Given the description of an element on the screen output the (x, y) to click on. 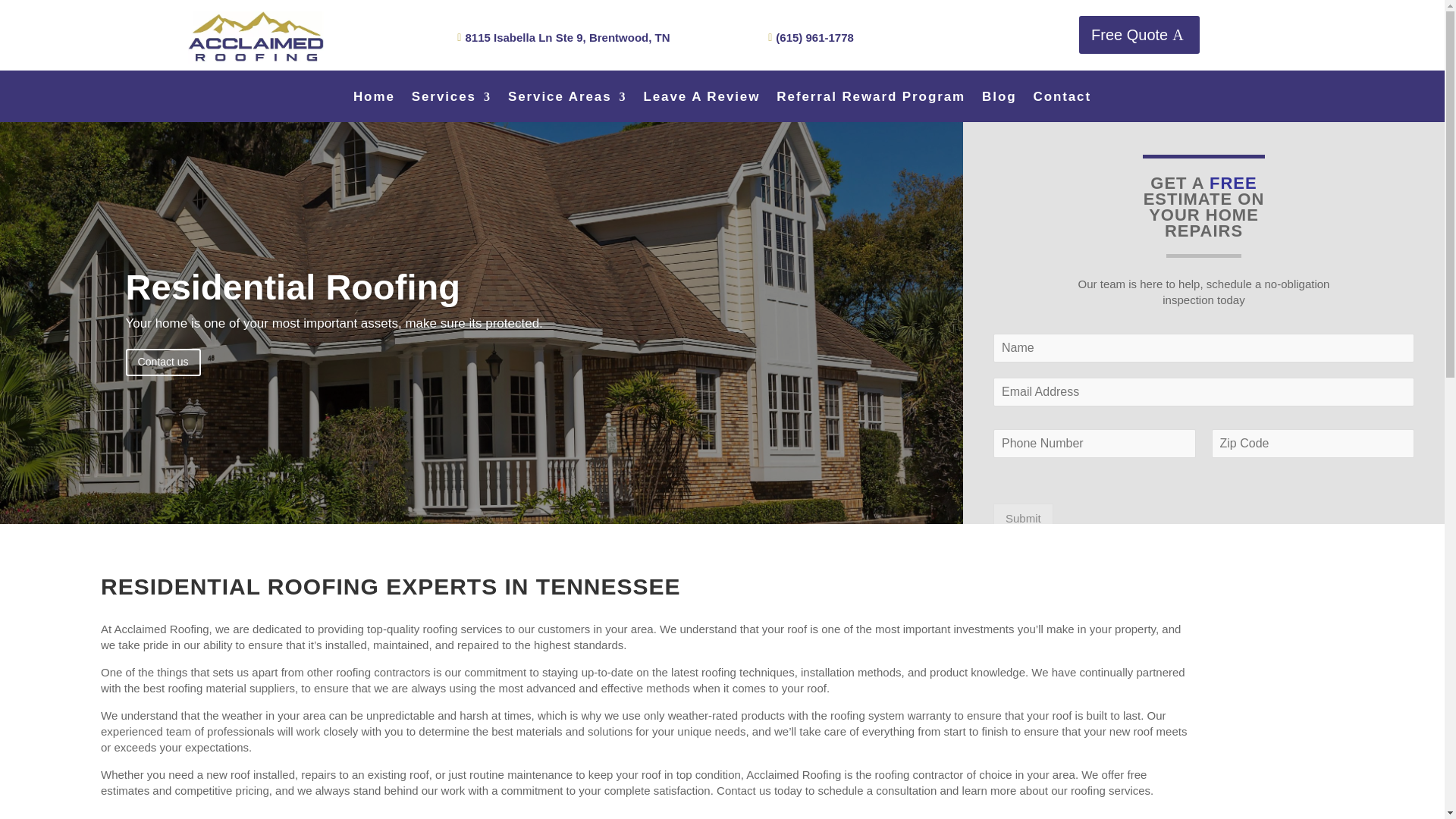
Contact us (162, 363)
Contact (1061, 99)
Blog (998, 99)
Services (452, 99)
Home (373, 99)
Residential Roofing (292, 290)
acclaimed (255, 37)
Referral Reward Program (870, 99)
Free Quote (1138, 34)
Submit (1022, 518)
